Given the description of an element on the screen output the (x, y) to click on. 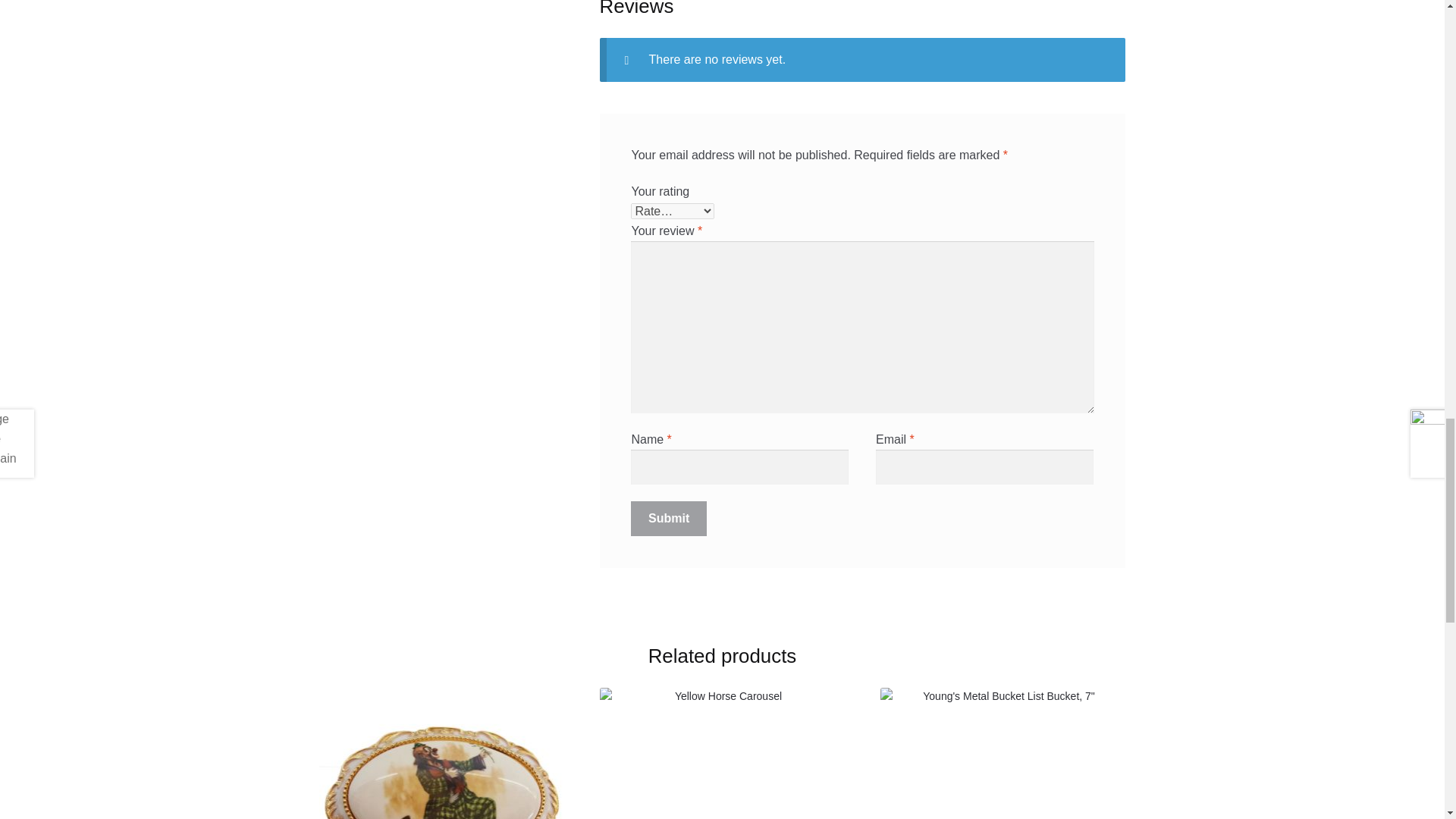
Submit (668, 518)
